Given the description of an element on the screen output the (x, y) to click on. 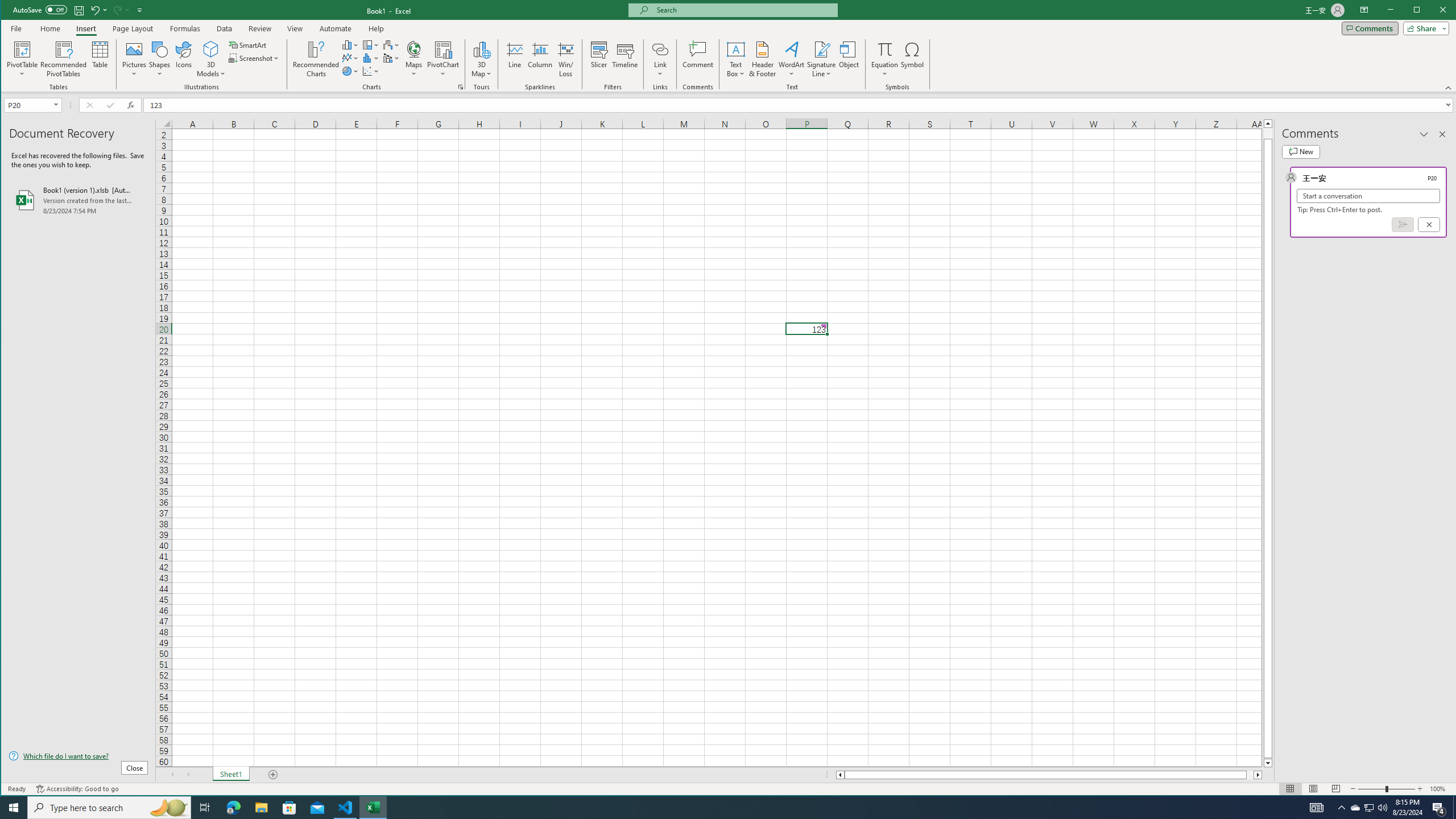
SmartArt... (248, 44)
Insert Scatter (X, Y) or Bubble Chart (371, 70)
Recommended Charts (460, 86)
Equation (884, 59)
Insert Pie or Doughnut Chart (350, 70)
Cancel (1428, 224)
3D Models (211, 48)
